Given the description of an element on the screen output the (x, y) to click on. 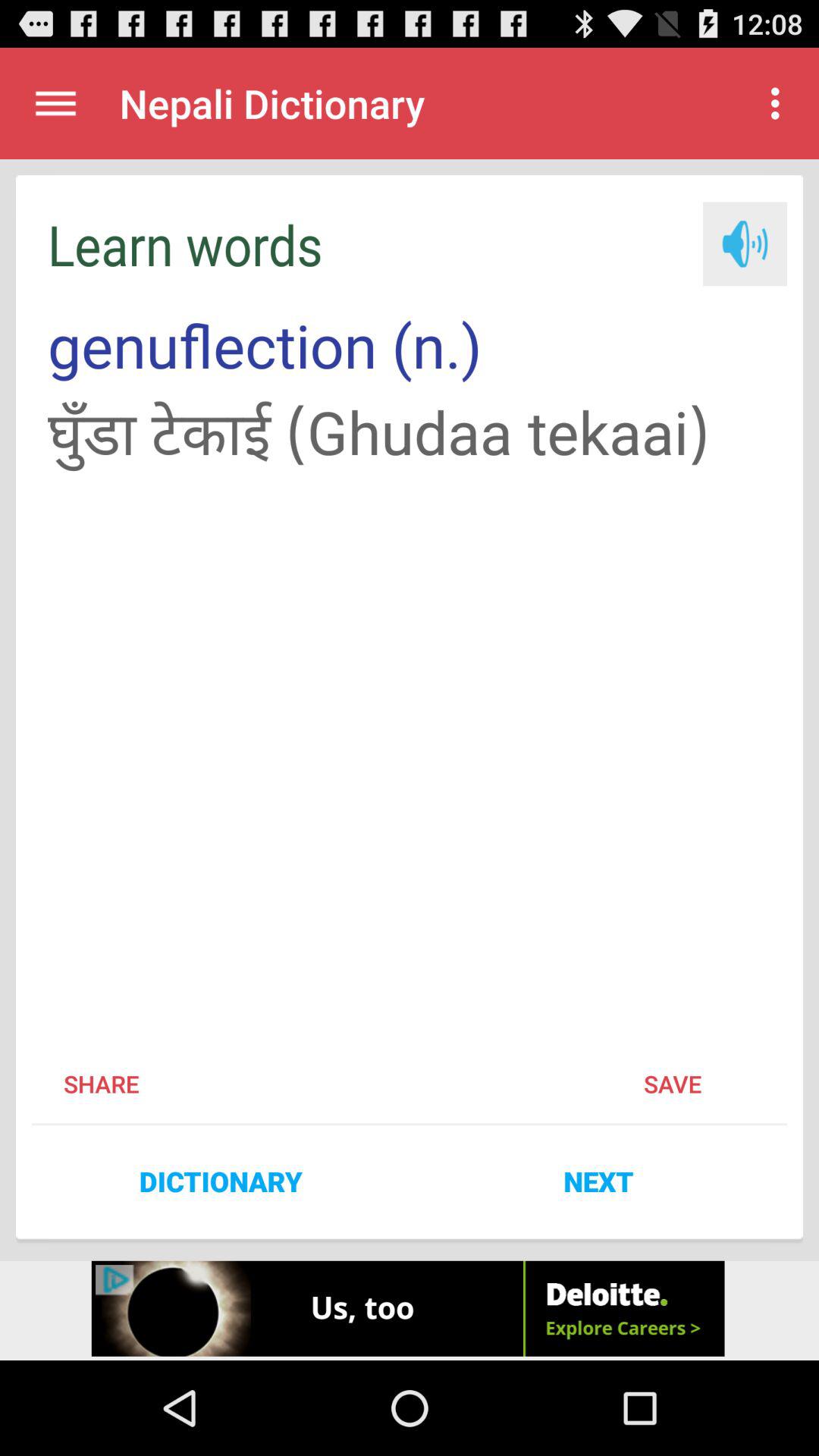
volume (744, 243)
